Given the description of an element on the screen output the (x, y) to click on. 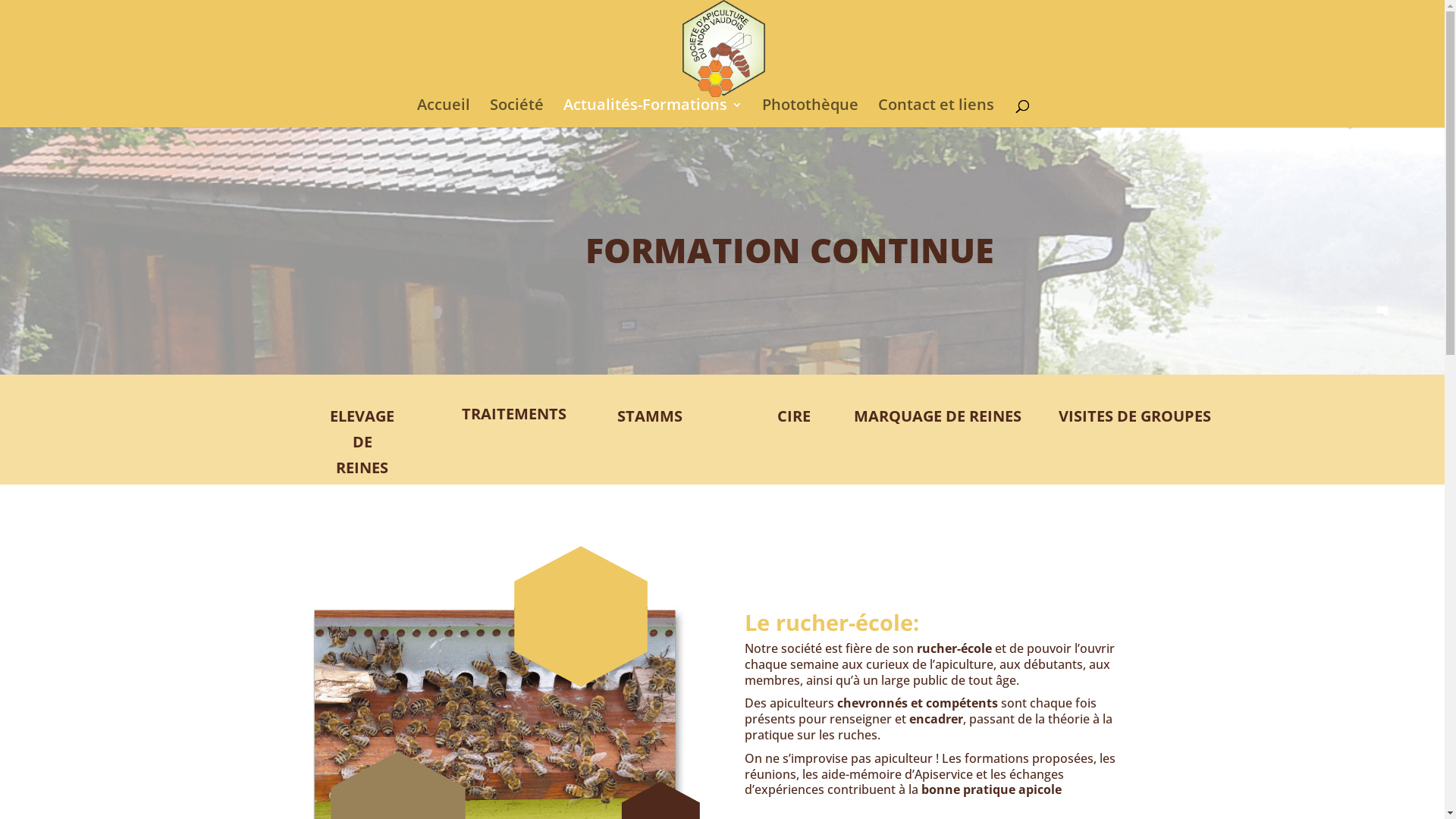
ELEVAGE DE REINES Element type: text (361, 441)
MARQUAGE DE REINES Element type: text (944, 415)
Accueil Element type: text (443, 113)
Contact et liens Element type: text (936, 113)
CIRE Element type: text (793, 415)
VISITES DE GROUPES Element type: text (1134, 415)
STAMMS Element type: text (649, 415)
